Given the description of an element on the screen output the (x, y) to click on. 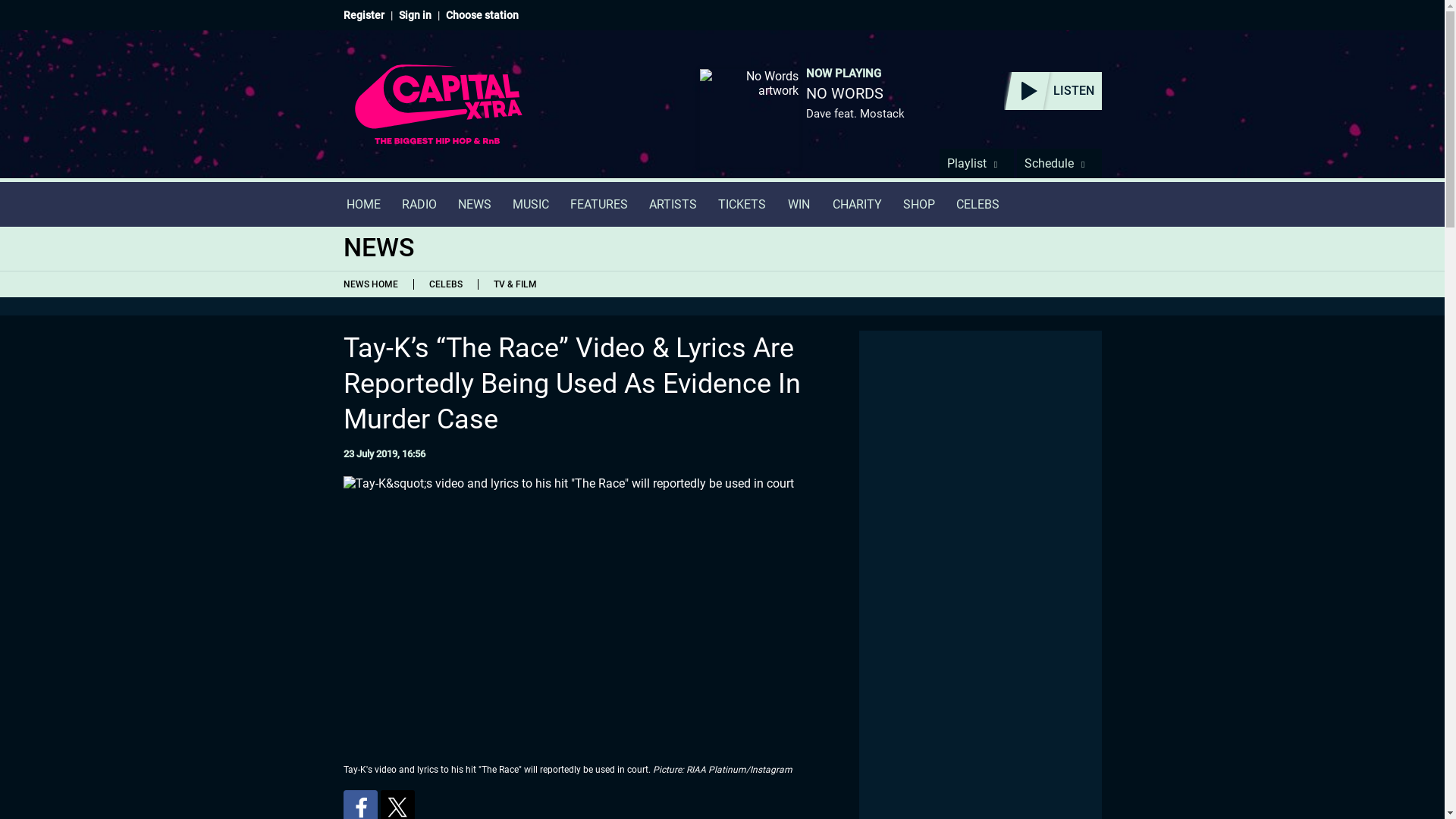
NEWS HOME (373, 284)
ARTISTS (673, 203)
RADIO (418, 203)
TICKETS (741, 203)
NEWS (474, 203)
Schedule (1058, 163)
LISTEN (1053, 90)
Capital XTRA (437, 113)
WIN (799, 203)
HOME (362, 203)
CELEBS (976, 203)
CELEBS (444, 284)
CHARITY (857, 203)
SHOP (917, 203)
MUSIC (530, 203)
